Given the description of an element on the screen output the (x, y) to click on. 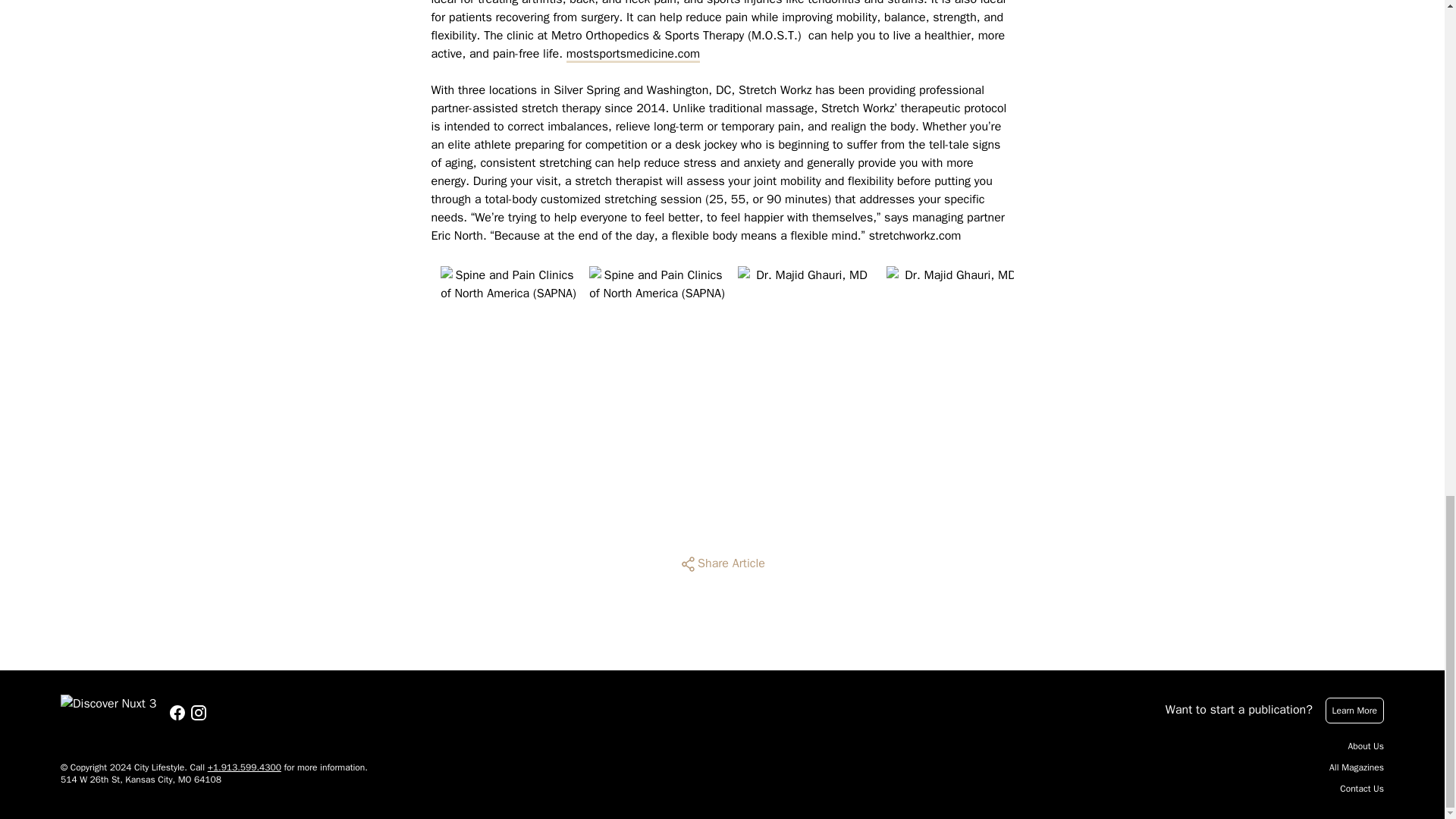
About Us (1366, 746)
Contact Us (1361, 788)
mostsportsmedicine.com (633, 54)
Share Article (722, 563)
All Magazines (1356, 767)
Learn More (1354, 710)
